Given the description of an element on the screen output the (x, y) to click on. 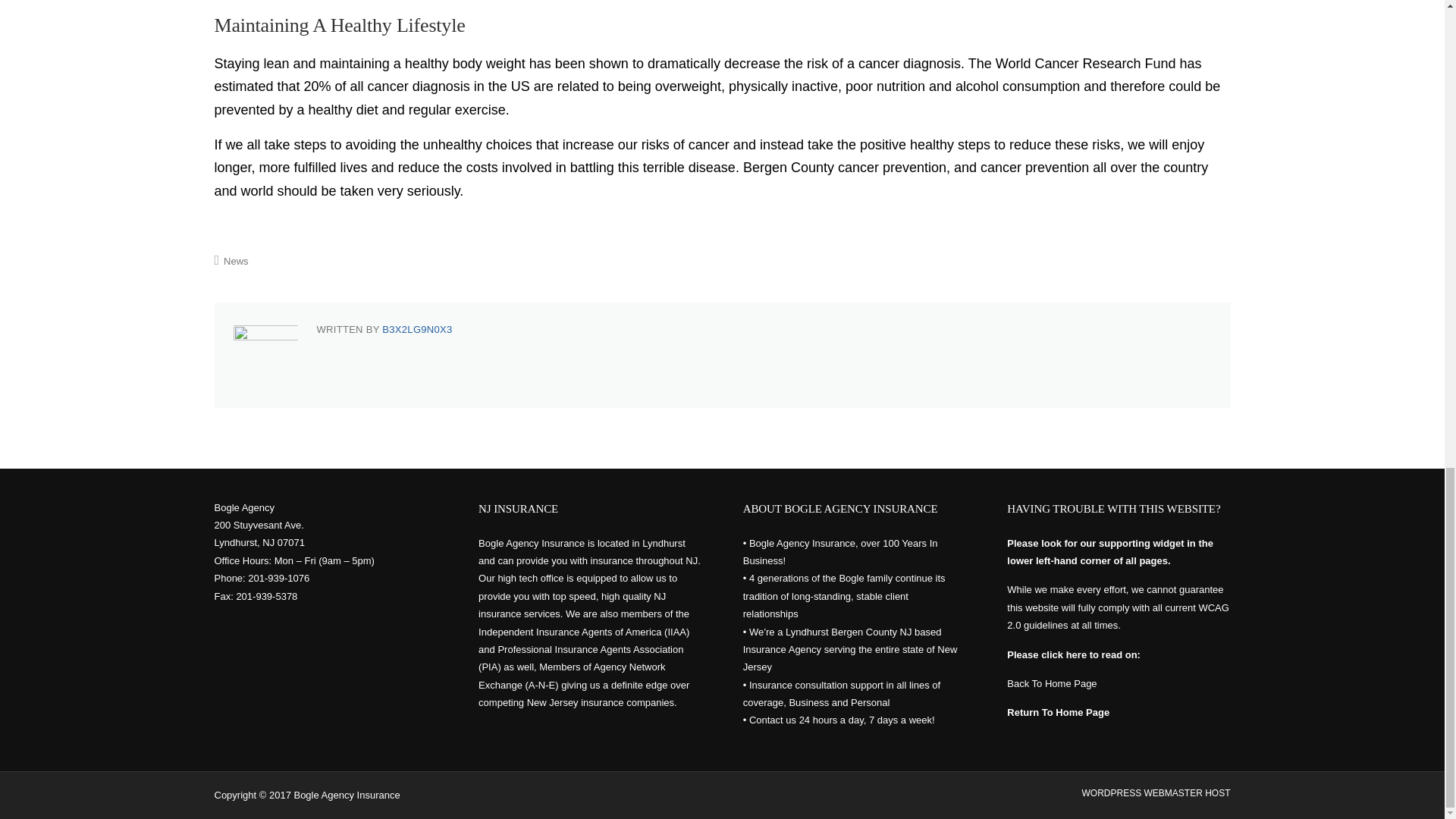
News (236, 260)
B3X2LG9N0X3 (416, 328)
Please click here to read on: (1073, 654)
Please click here to read on: (1058, 712)
Click for the BBB Business Review of Bogle Agency Insurance (259, 652)
